Given the description of an element on the screen output the (x, y) to click on. 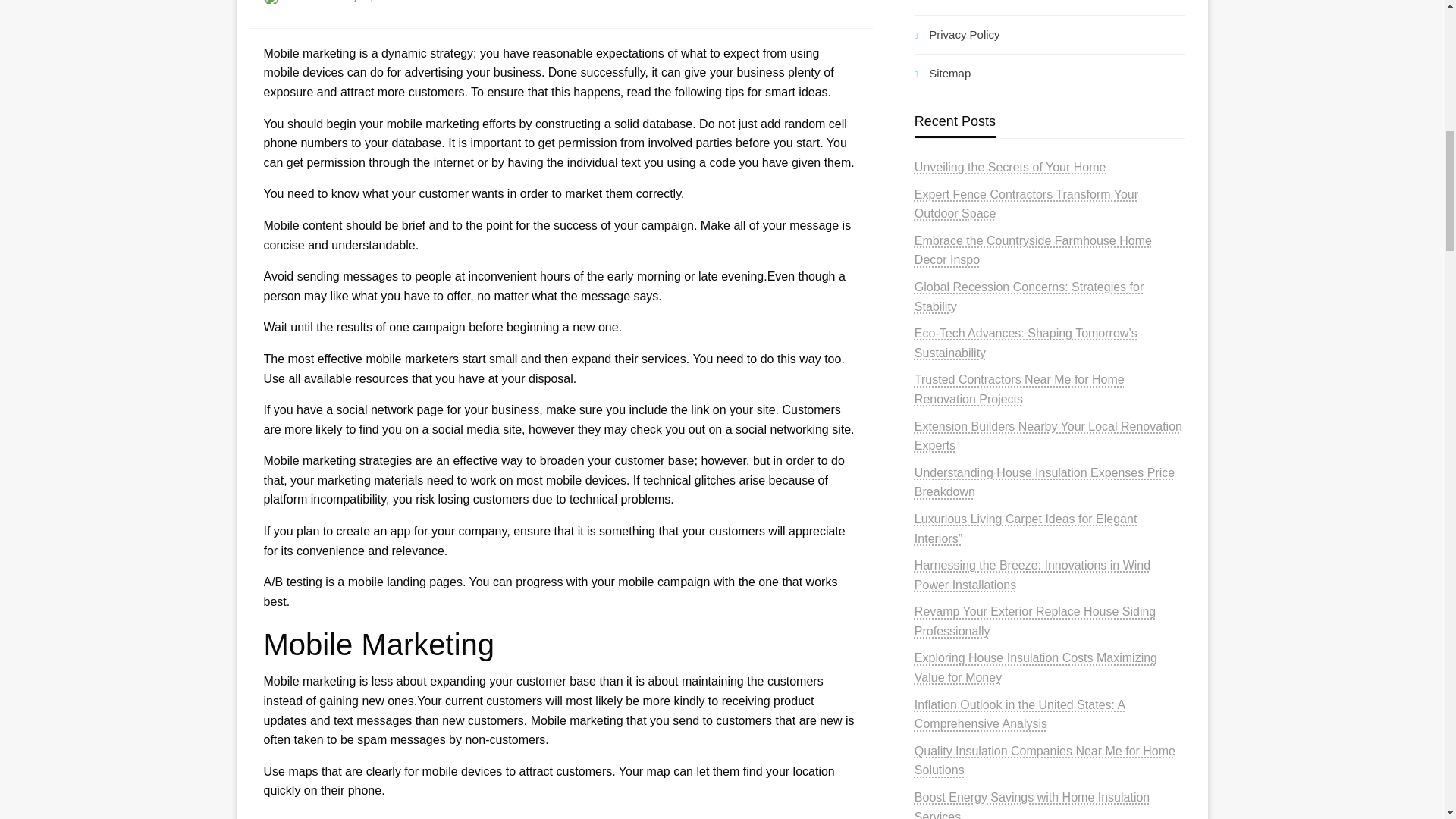
webino (304, 1)
May 31, 2024 (368, 1)
webino (304, 1)
